Given the description of an element on the screen output the (x, y) to click on. 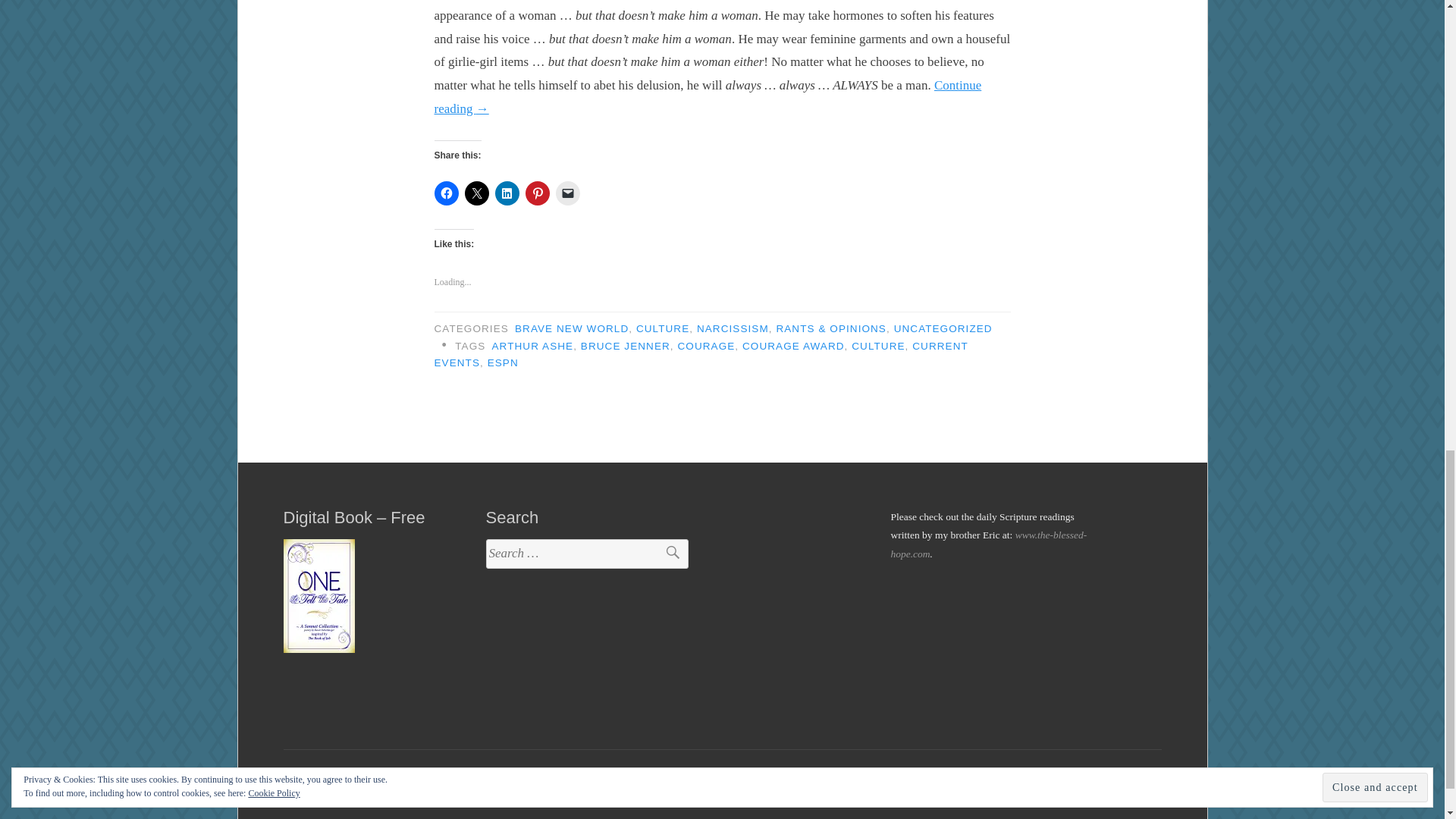
Click to share on Facebook (445, 192)
Search (665, 553)
Click to share on Pinterest (536, 192)
Click to email a link to a friend (566, 192)
Click to share on LinkedIn (506, 192)
Search (665, 553)
Click to share on X (475, 192)
